Given the description of an element on the screen output the (x, y) to click on. 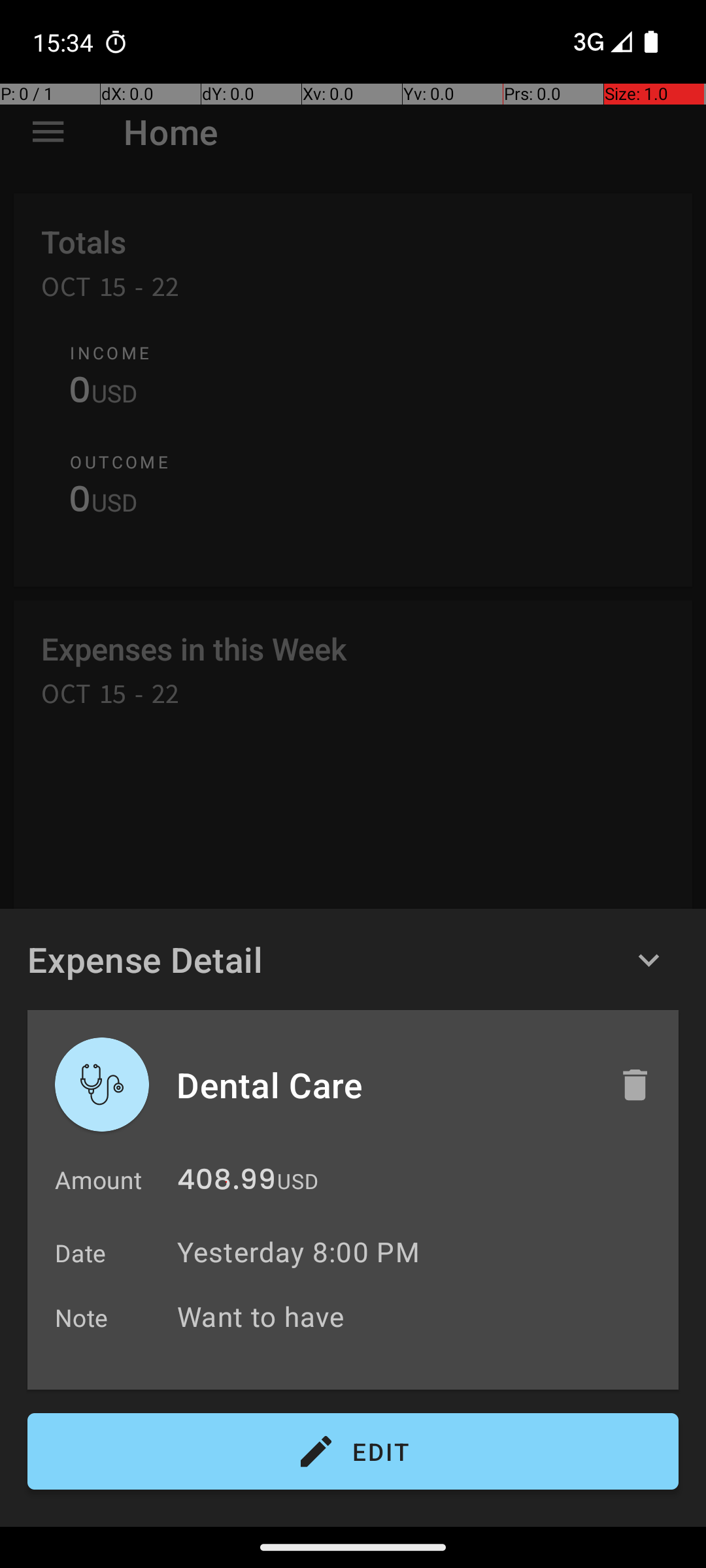
Dental Care Element type: android.widget.TextView (383, 1084)
408.99 Element type: android.widget.TextView (226, 1182)
Yesterday 8:00 PM Element type: android.widget.TextView (298, 1251)
